Given the description of an element on the screen output the (x, y) to click on. 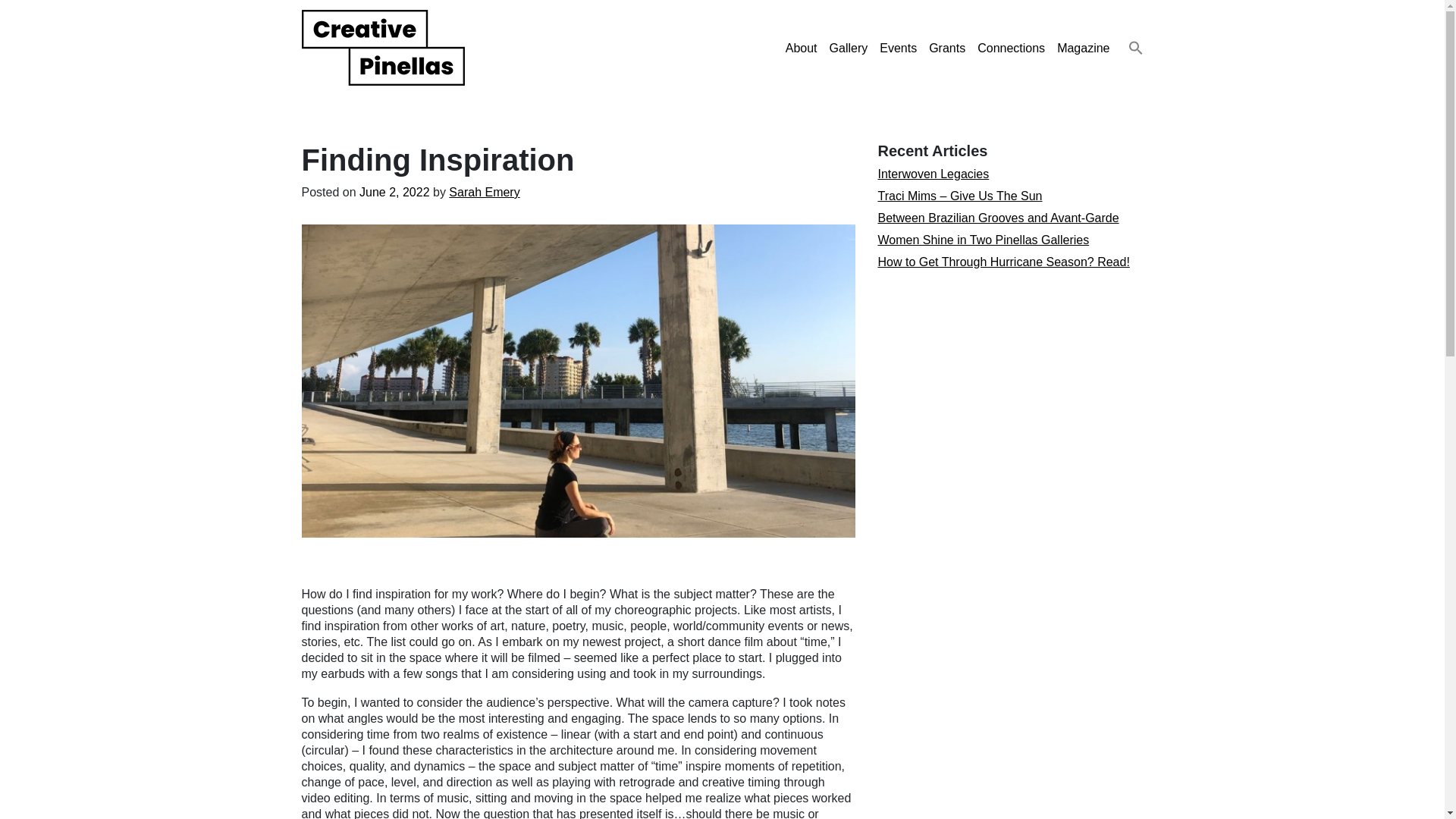
Events (898, 48)
June 2, 2022 (394, 192)
Magazine (1083, 48)
Connections (1011, 48)
Between Brazilian Grooves and Avant-Garde (998, 217)
About (801, 48)
Sarah Emery (483, 192)
Grants (947, 48)
How to Get Through Hurricane Season? Read! (1003, 261)
Events (898, 48)
Women Shine in Two Pinellas Galleries (983, 239)
Gallery (849, 48)
Grants (947, 48)
Connections (1011, 48)
About (801, 48)
